Given the description of an element on the screen output the (x, y) to click on. 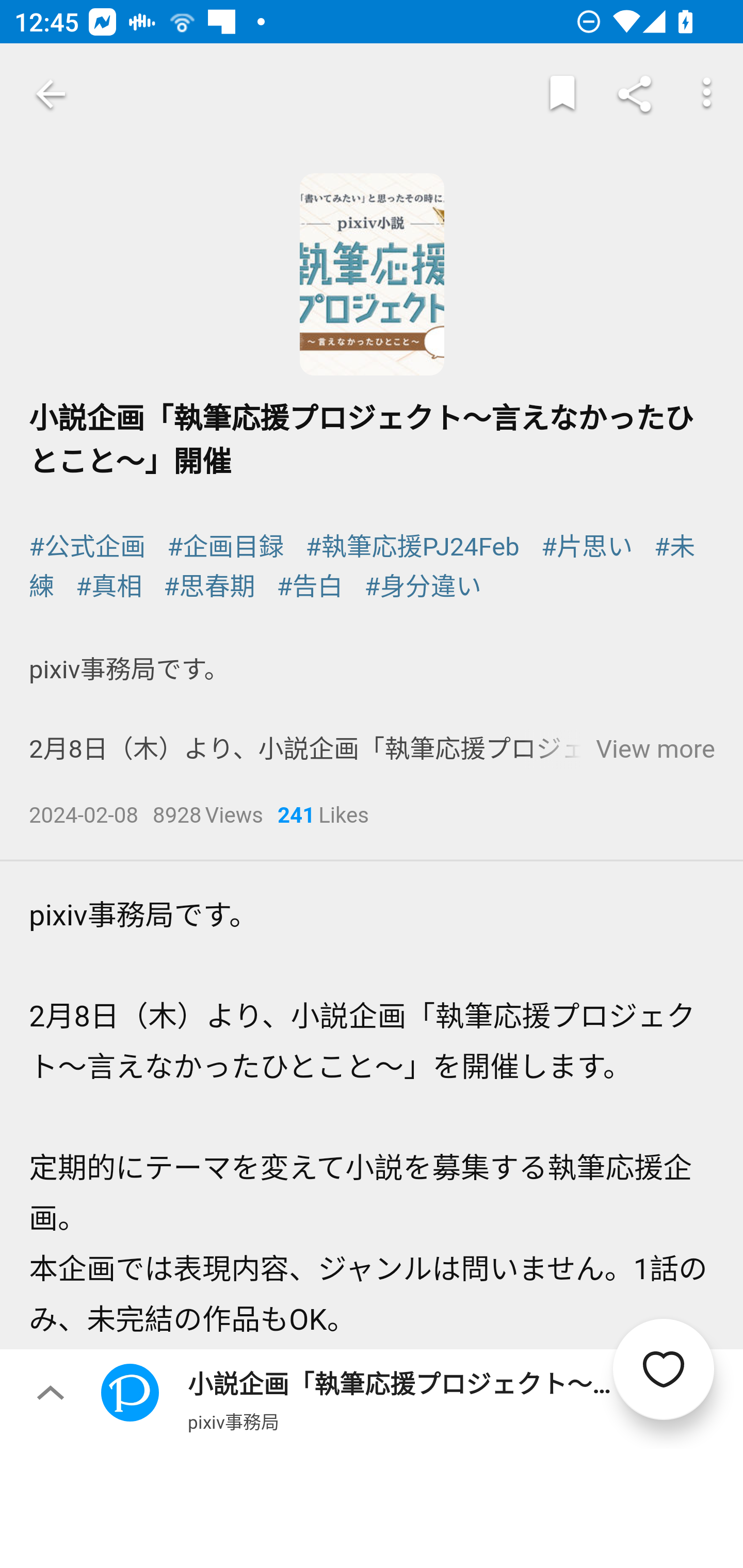
Navigate up (50, 93)
Markers (562, 93)
Share (634, 93)
More options (706, 93)
#公式企画 (87, 545)
#未練 (362, 566)
#企画目録 (225, 545)
#執筆応援PJ24Feb (412, 545)
#片思い (586, 545)
#真相 (108, 586)
#思春期 (209, 586)
#告白 (310, 586)
#身分違い (422, 586)
View more (654, 749)
241Likes (323, 816)
pixiv事務局 (233, 1421)
